Given the description of an element on the screen output the (x, y) to click on. 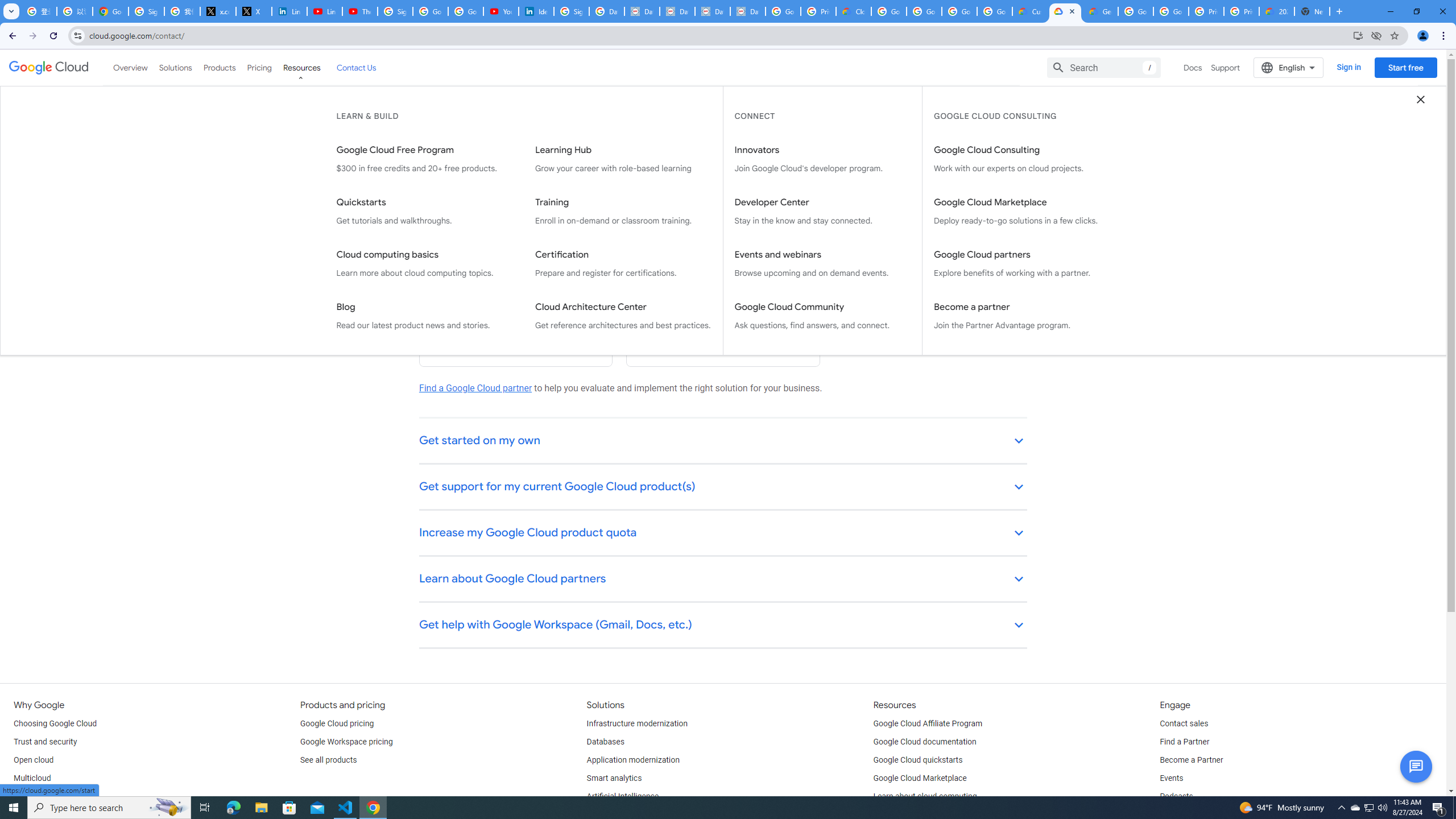
Identity verification via Persona | LinkedIn Help (536, 11)
Data Privacy Framework (712, 11)
Application modernization (632, 760)
Find a Partner (1183, 742)
Reload (52, 35)
Search tabs (10, 11)
Resources (301, 67)
Blog Read our latest product news and stories. (424, 316)
Forward (32, 35)
Contact Us (355, 67)
Contact sales (1183, 723)
See all products (327, 760)
LinkedIn Privacy Policy (288, 11)
